Given the description of an element on the screen output the (x, y) to click on. 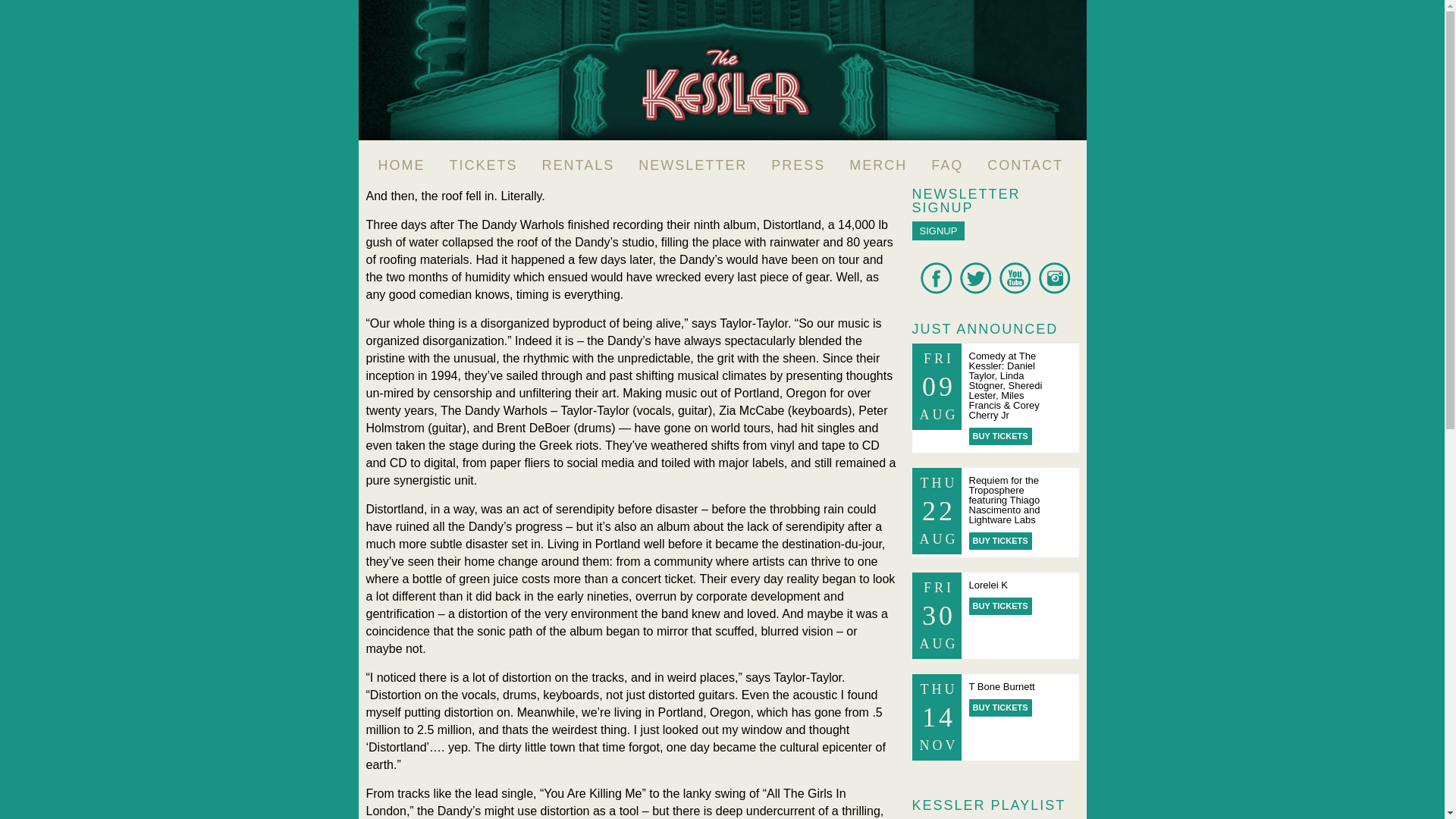
TICKETS (482, 164)
CONTACT (1025, 164)
Facebook (936, 290)
NEWSLETTER (692, 164)
MERCH (877, 164)
BUY TICKETS (1000, 707)
SIGNUP (937, 230)
BUY TICKETS (1000, 436)
PRESS (797, 164)
The Kessler Theater (722, 70)
Twitter (975, 290)
BUY TICKETS (1000, 540)
Instagram (1054, 290)
BUY TICKETS (1000, 606)
FAQ (946, 164)
